Given the description of an element on the screen output the (x, y) to click on. 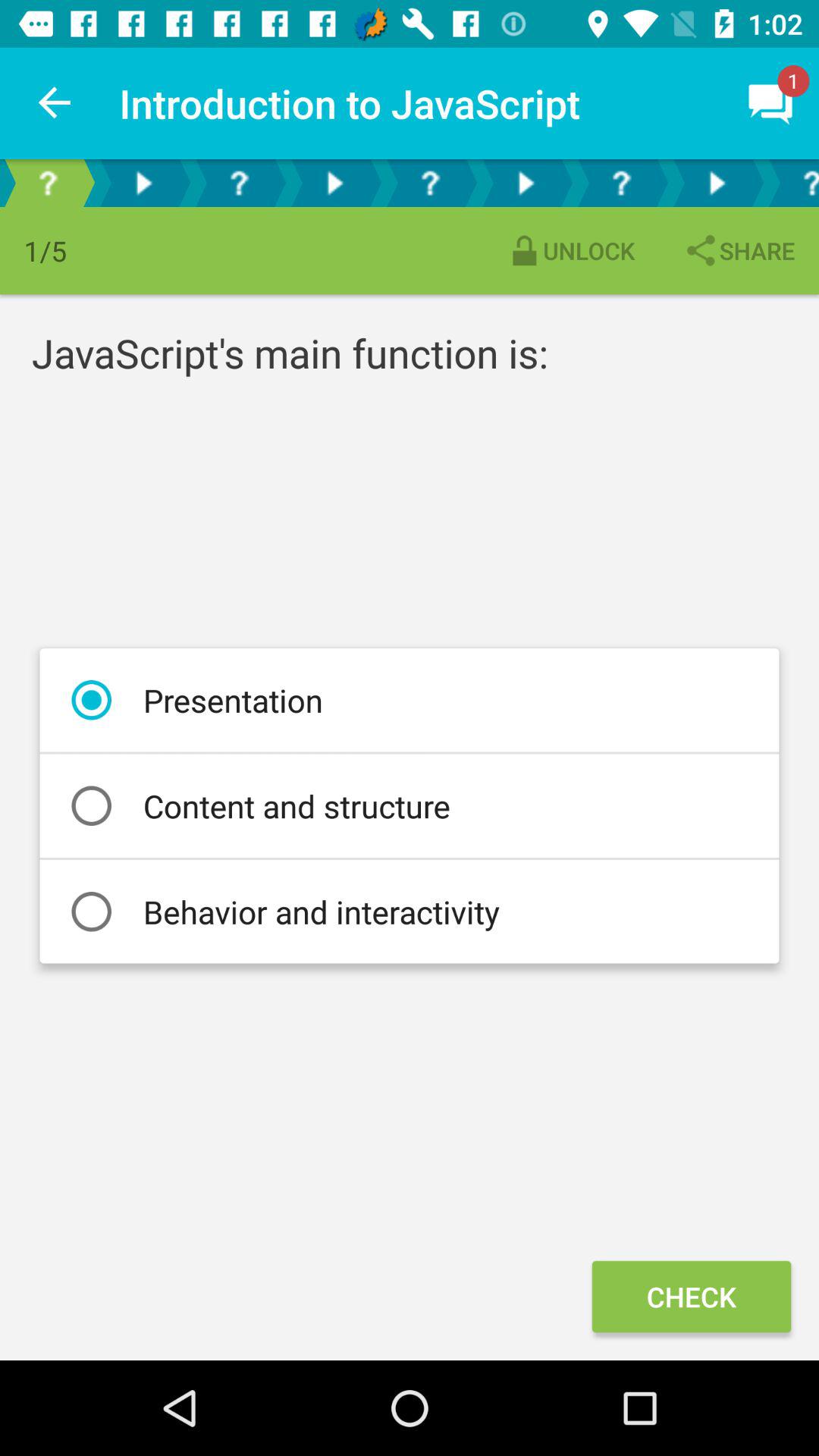
view question (620, 183)
